Given the description of an element on the screen output the (x, y) to click on. 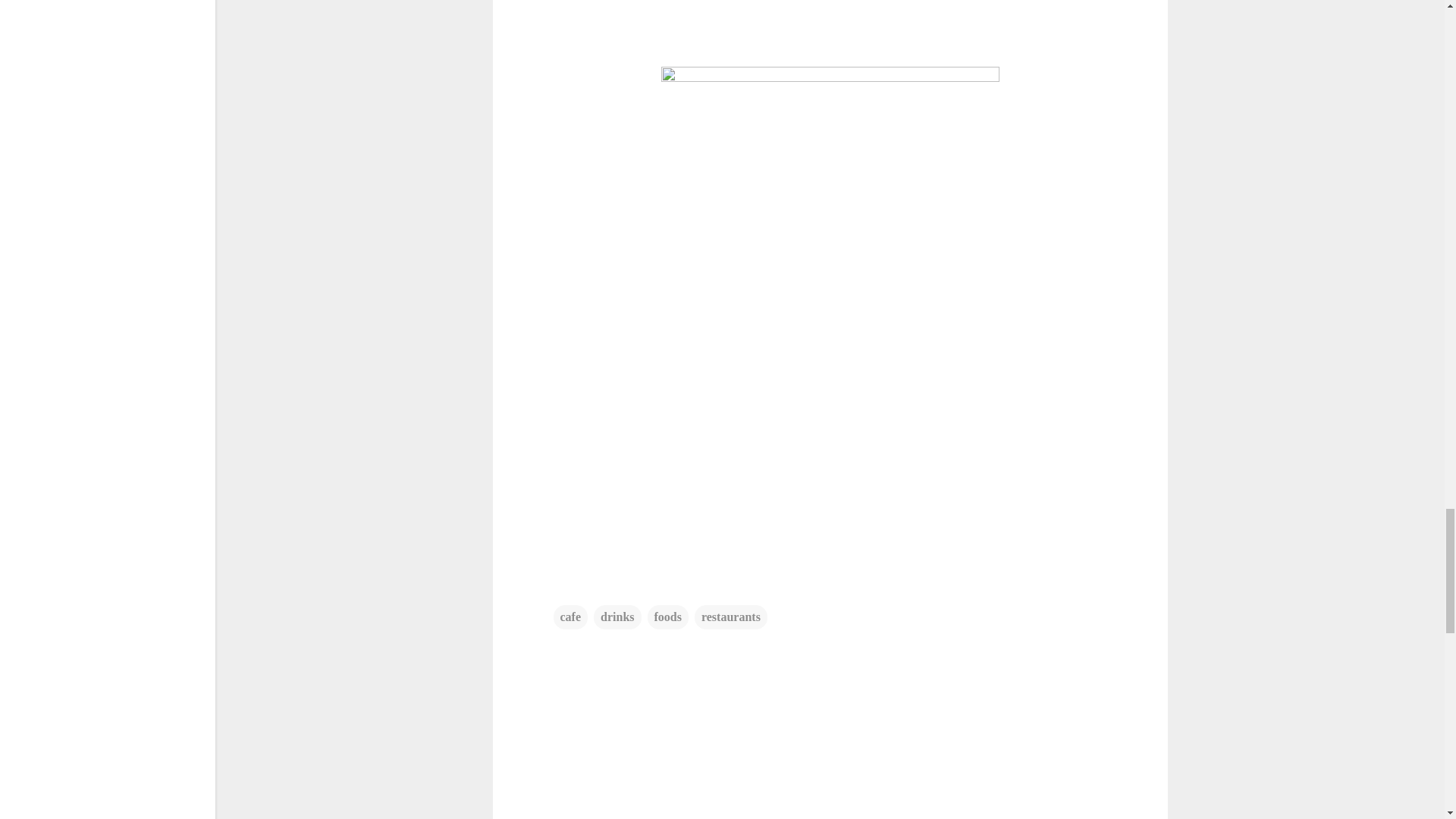
drinks (617, 617)
foods (667, 617)
cafe (570, 617)
restaurants (730, 617)
